Given the description of an element on the screen output the (x, y) to click on. 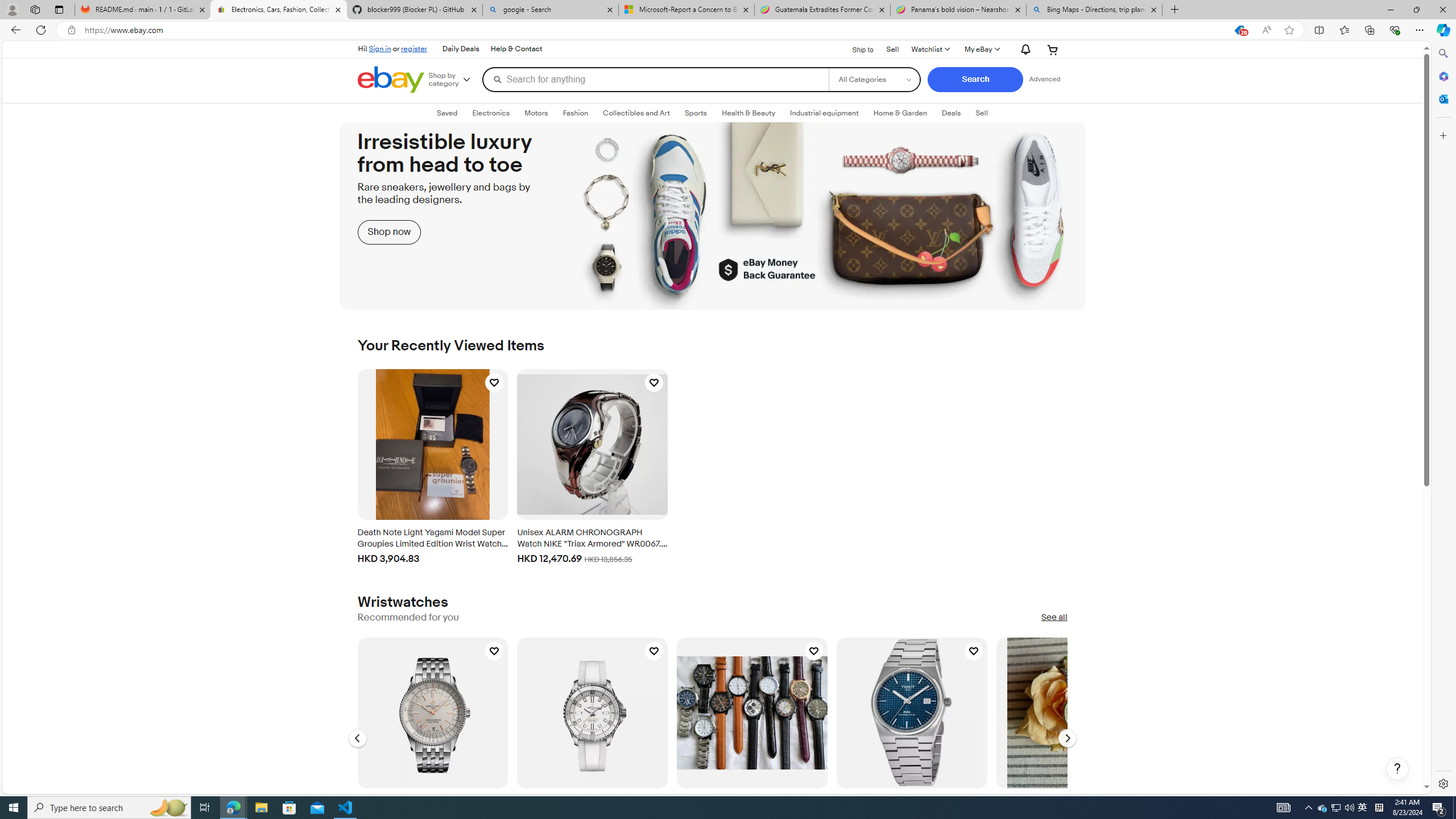
Help, opens dialogs (1396, 768)
Daily Deals (460, 49)
MotorsExpand: Motors (536, 112)
Go to the previous slide, Wristwatches - Carousel (356, 737)
Deals (951, 112)
Ship to (855, 48)
Collectibles and Art (635, 112)
ElectronicsExpand: Electronics (490, 112)
